Given the description of an element on the screen output the (x, y) to click on. 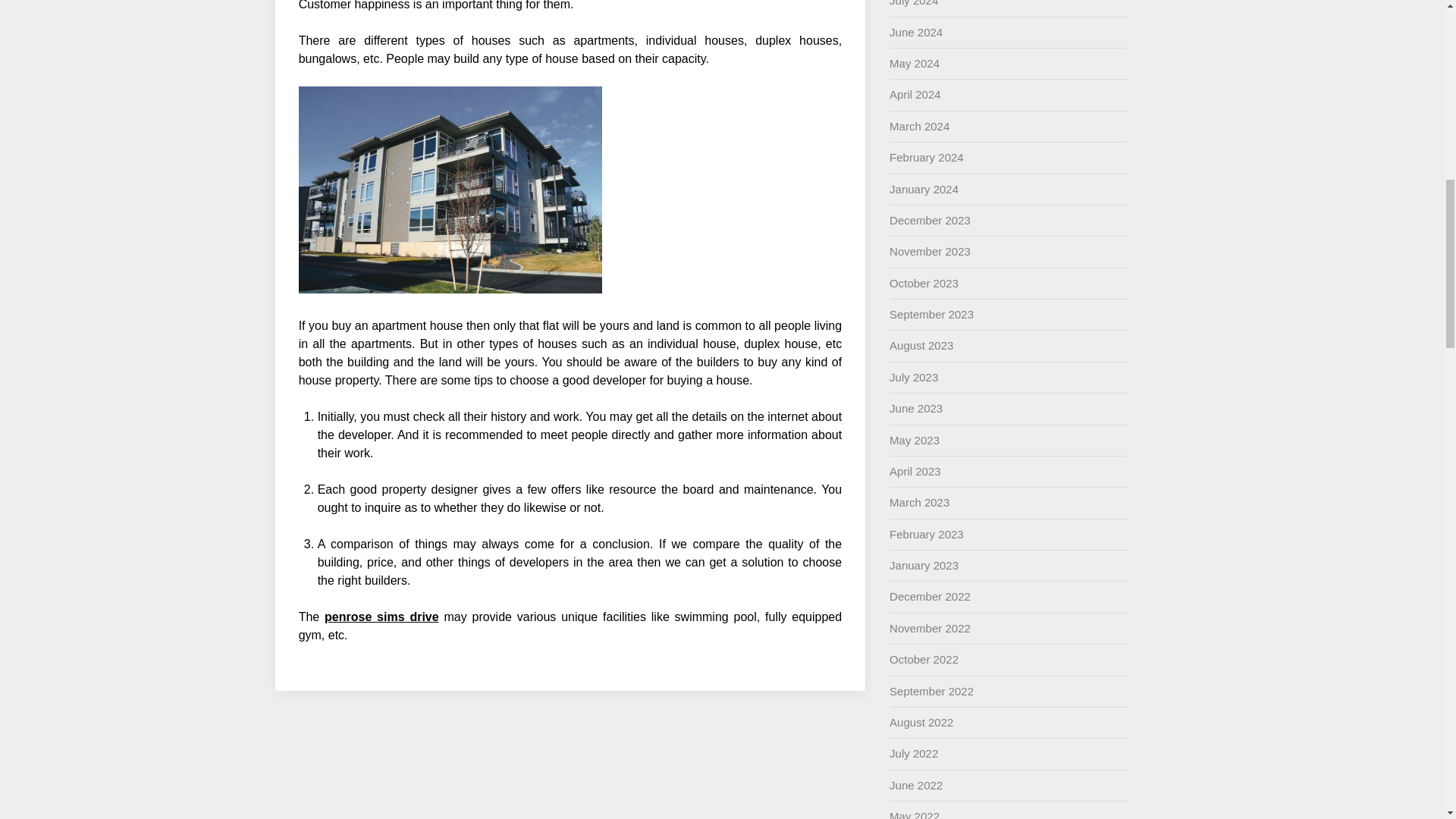
August 2023 (921, 345)
February 2023 (926, 533)
January 2024 (923, 188)
May 2023 (914, 440)
July 2023 (913, 377)
March 2024 (919, 125)
December 2023 (930, 219)
May 2024 (914, 62)
April 2024 (914, 93)
February 2024 (926, 156)
April 2023 (914, 471)
January 2023 (923, 564)
March 2023 (919, 502)
October 2023 (923, 282)
penrose sims drive (381, 616)
